Given the description of an element on the screen output the (x, y) to click on. 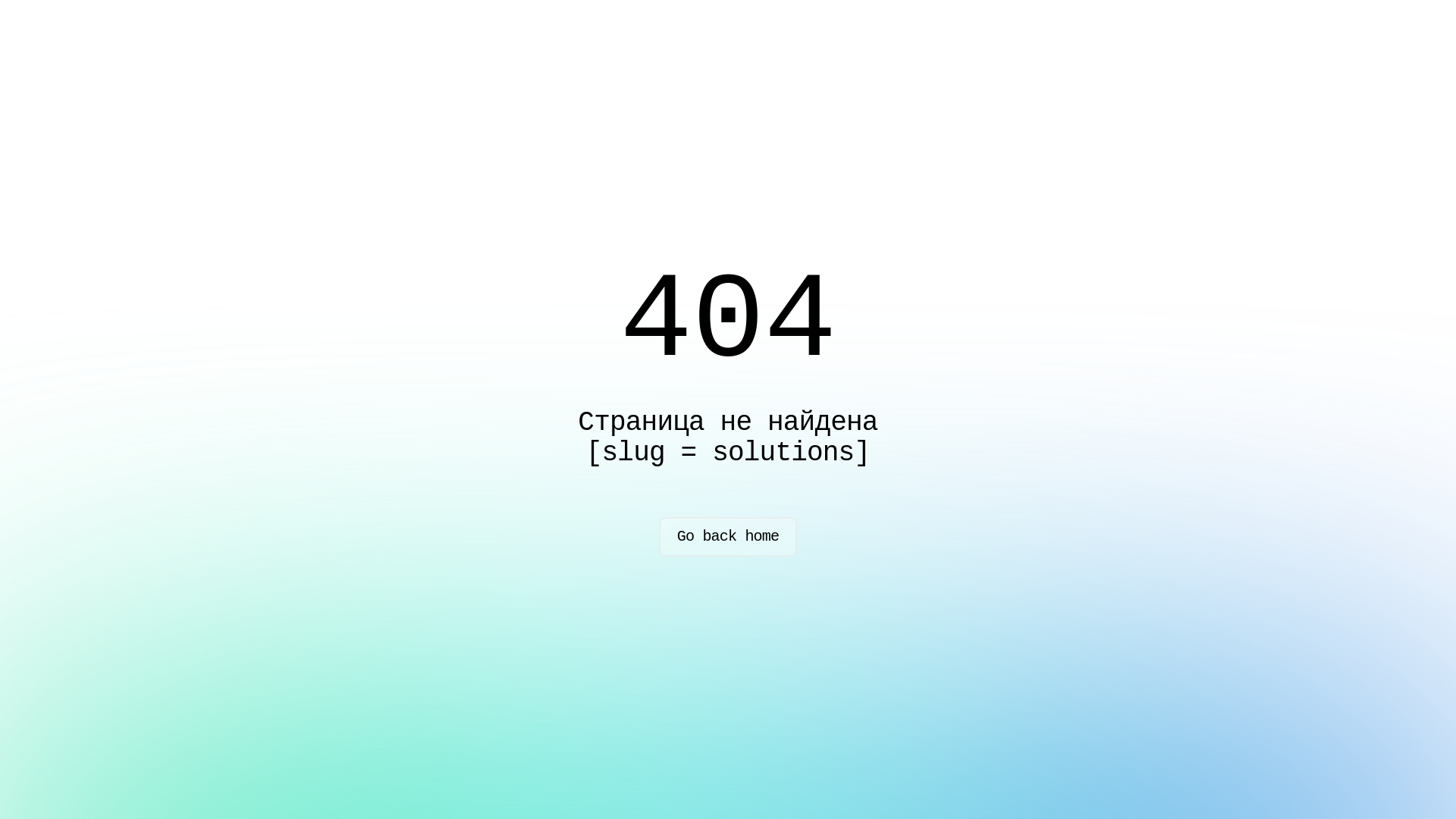
Go back home Element type: text (727, 536)
